Given the description of an element on the screen output the (x, y) to click on. 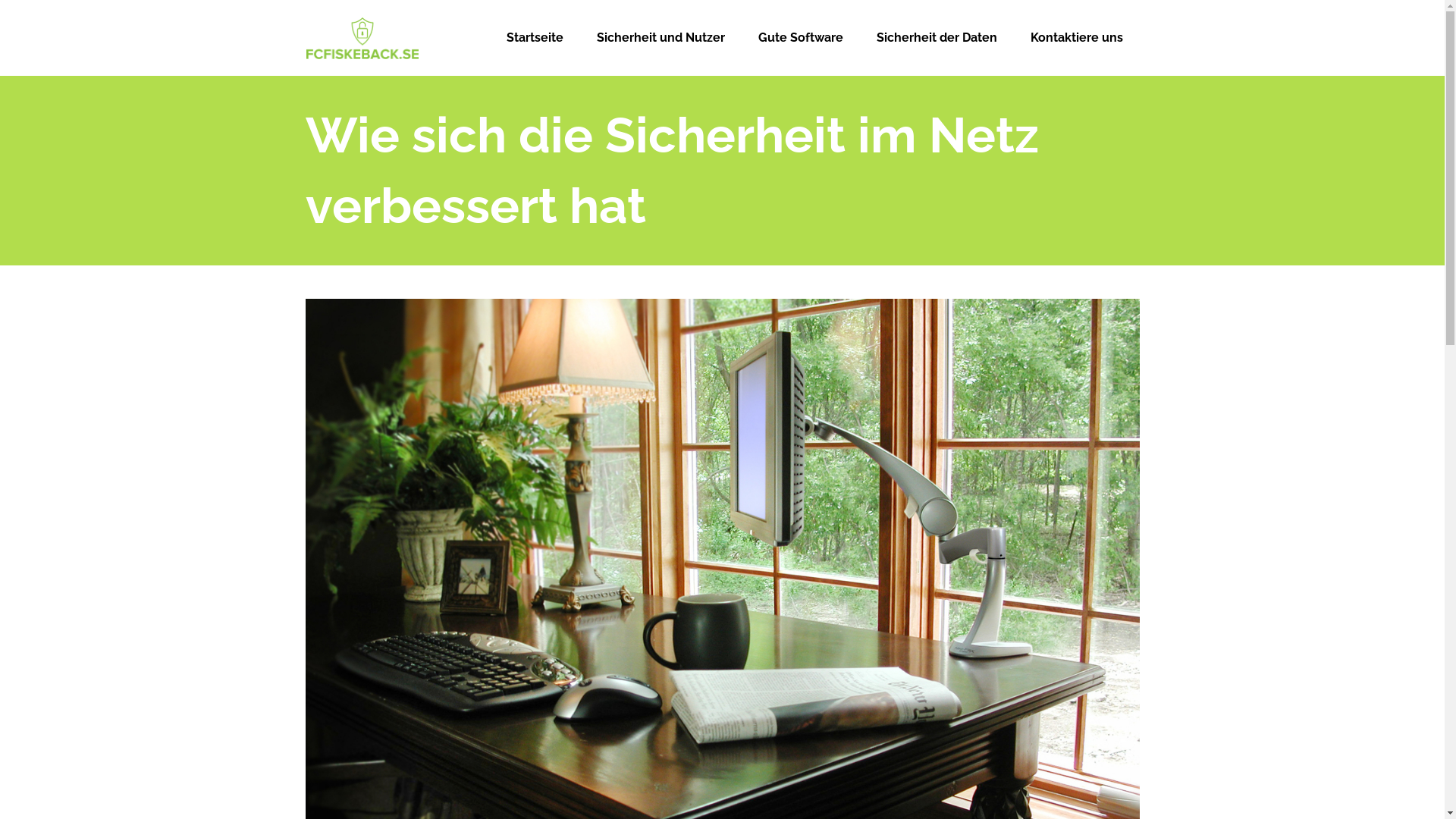
Kontaktiere uns Element type: text (1075, 37)
Startseite Element type: text (534, 37)
Sicherheit der Daten Element type: text (936, 37)
Sicherheit und Nutzer Element type: text (659, 37)
Gute Software Element type: text (800, 37)
